Given the description of an element on the screen output the (x, y) to click on. 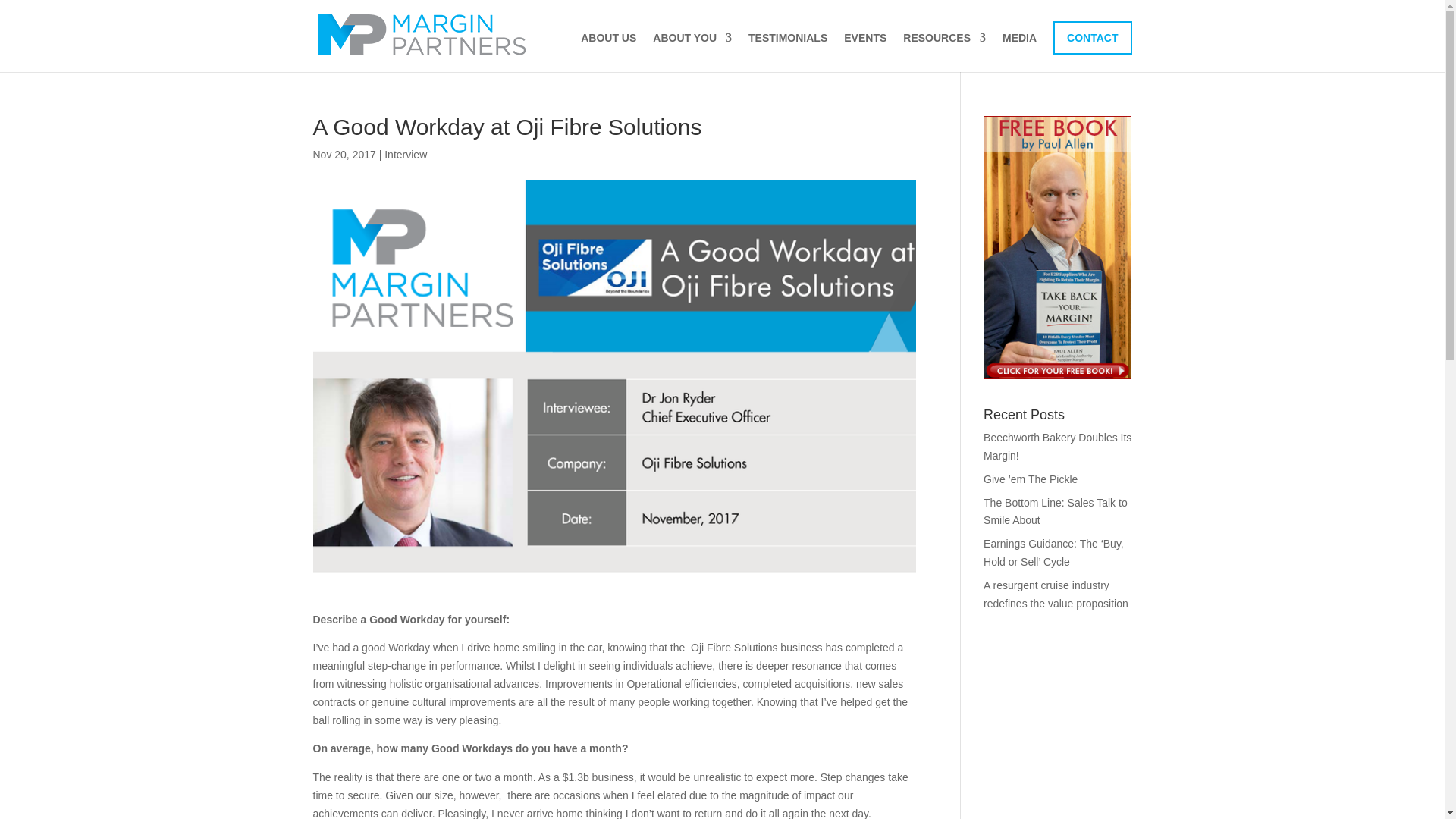
The Bottom Line: Sales Talk to Smile About (1055, 511)
Interview (405, 154)
EVENTS (865, 52)
ABOUT YOU (692, 52)
CONTACT (1091, 37)
TESTIMONIALS (787, 52)
RESOURCES (943, 52)
A resurgent cruise industry redefines the value proposition (1056, 594)
ABOUT US (608, 52)
Beechworth Bakery Doubles Its Margin! (1057, 446)
